Given the description of an element on the screen output the (x, y) to click on. 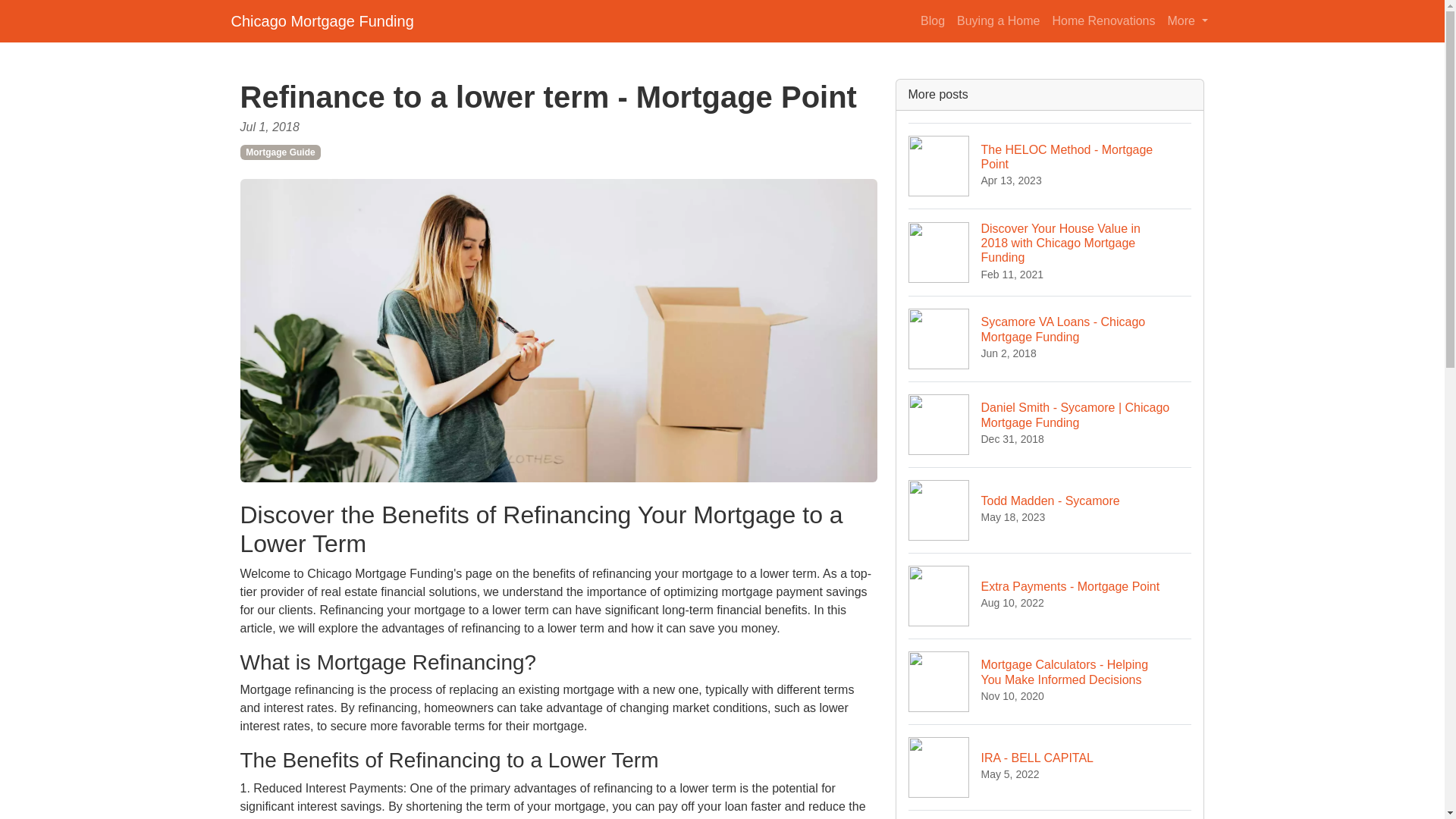
Blog (1050, 595)
Home Renovations (1050, 814)
Chicago Mortgage Funding (1050, 766)
More (932, 20)
Mortgage Guide (1102, 20)
Buying a Home (321, 20)
